Given the description of an element on the screen output the (x, y) to click on. 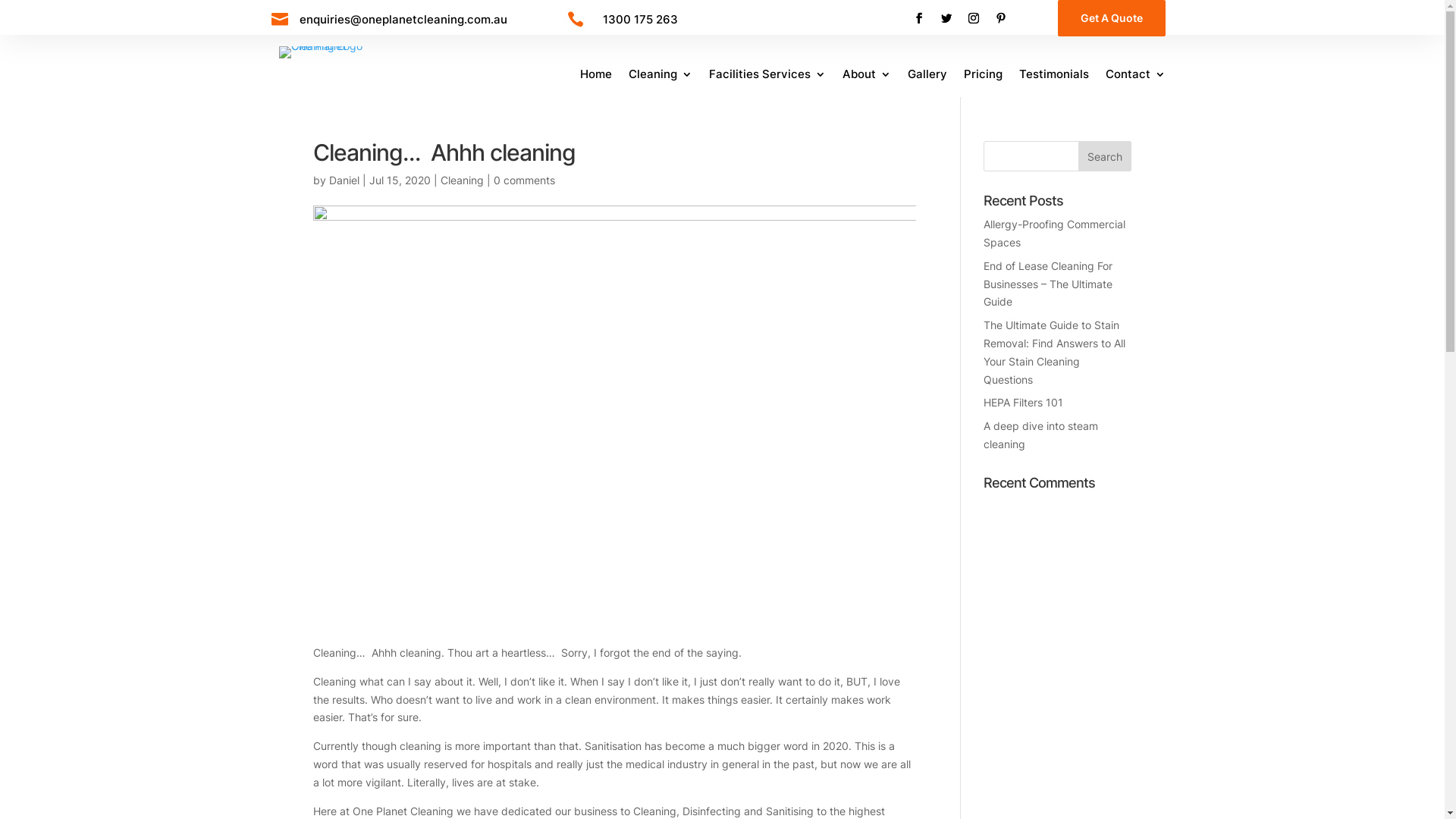
Pricing Element type: text (982, 77)
logo Element type: hover (332, 52)
Follow on Twitter Element type: hover (946, 17)
Get A Quote Element type: text (1111, 18)
0 comments Element type: text (523, 179)
A deep dive into steam cleaning Element type: text (1040, 434)
About Element type: text (866, 77)
Home Element type: text (595, 77)
Gallery Element type: text (927, 77)
Daniel Element type: text (344, 179)
Search Element type: text (1104, 156)
Follow on Facebook Element type: hover (918, 17)
Allergy-Proofing Commercial Spaces Element type: text (1054, 232)
Follow on Instagram Element type: hover (973, 17)
Cleaning Element type: text (461, 179)
Cleaning Element type: text (660, 77)
Contact Element type: text (1135, 77)
HEPA Filters 101 Element type: text (1023, 401)
Follow on Pinterest Element type: hover (1000, 17)
Facilities Services Element type: text (767, 77)
Testimonials Element type: text (1053, 77)
